Given the description of an element on the screen output the (x, y) to click on. 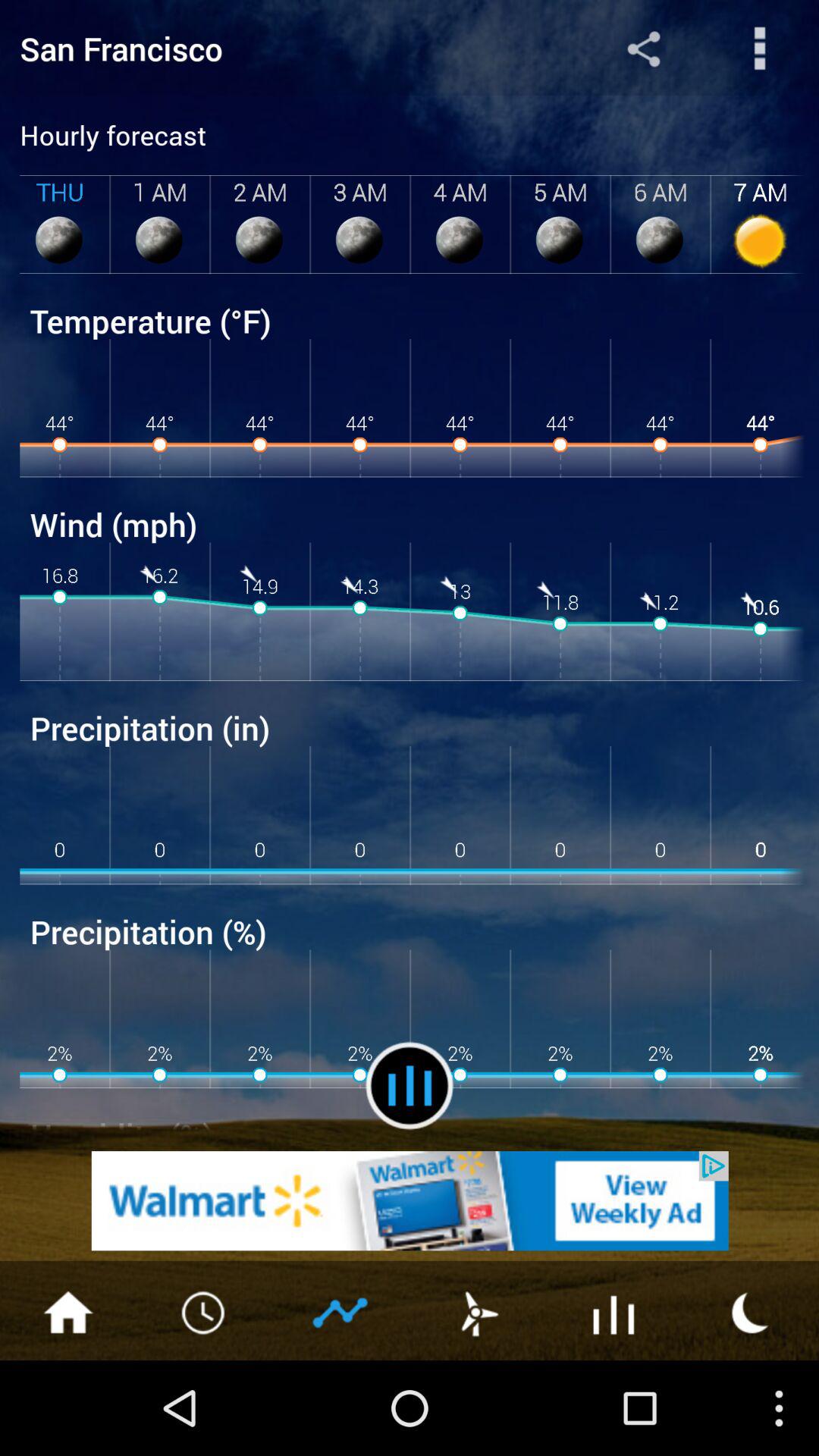
open clock (204, 1311)
